Given the description of an element on the screen output the (x, y) to click on. 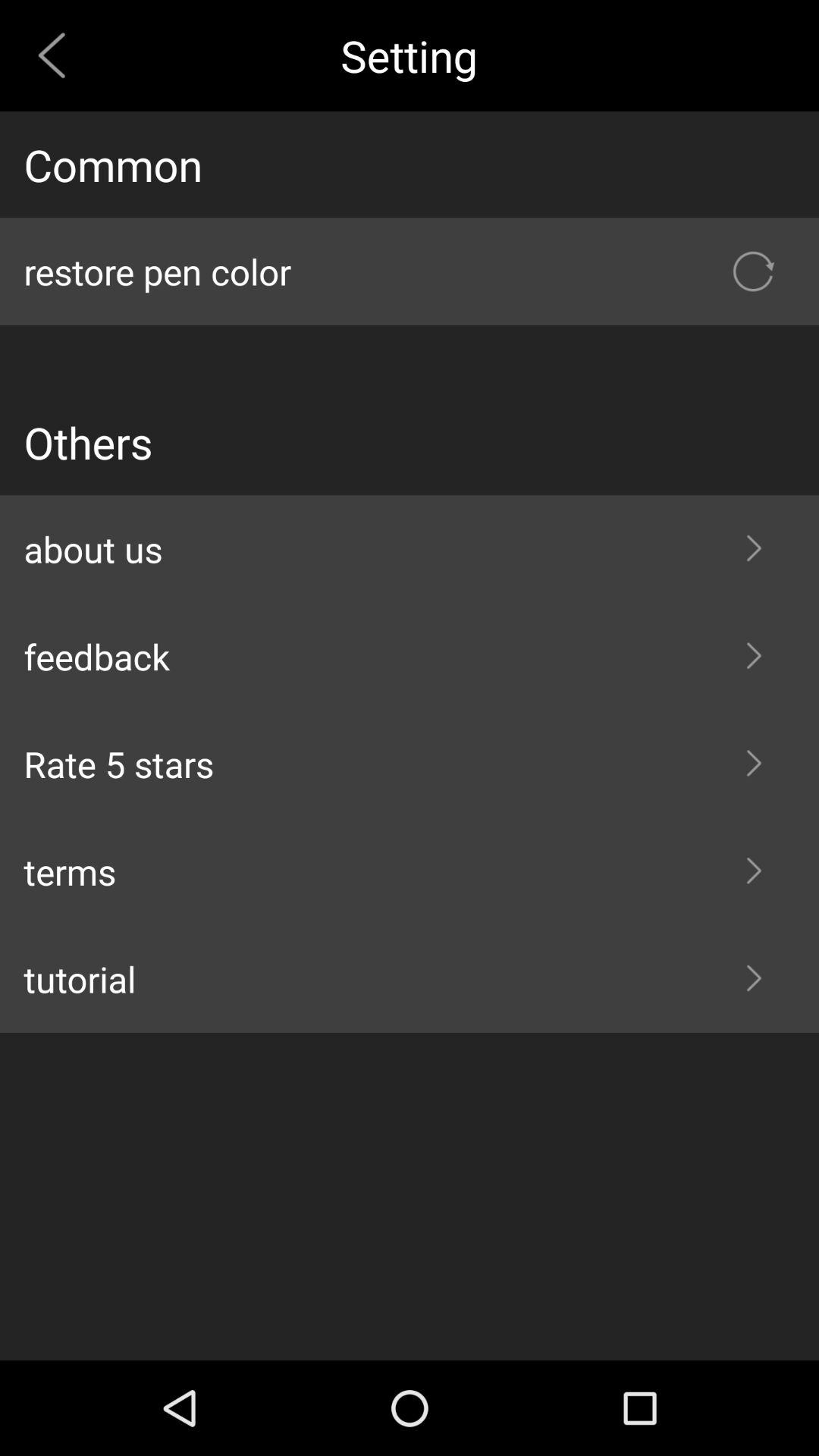
go back (57, 55)
